Given the description of an element on the screen output the (x, y) to click on. 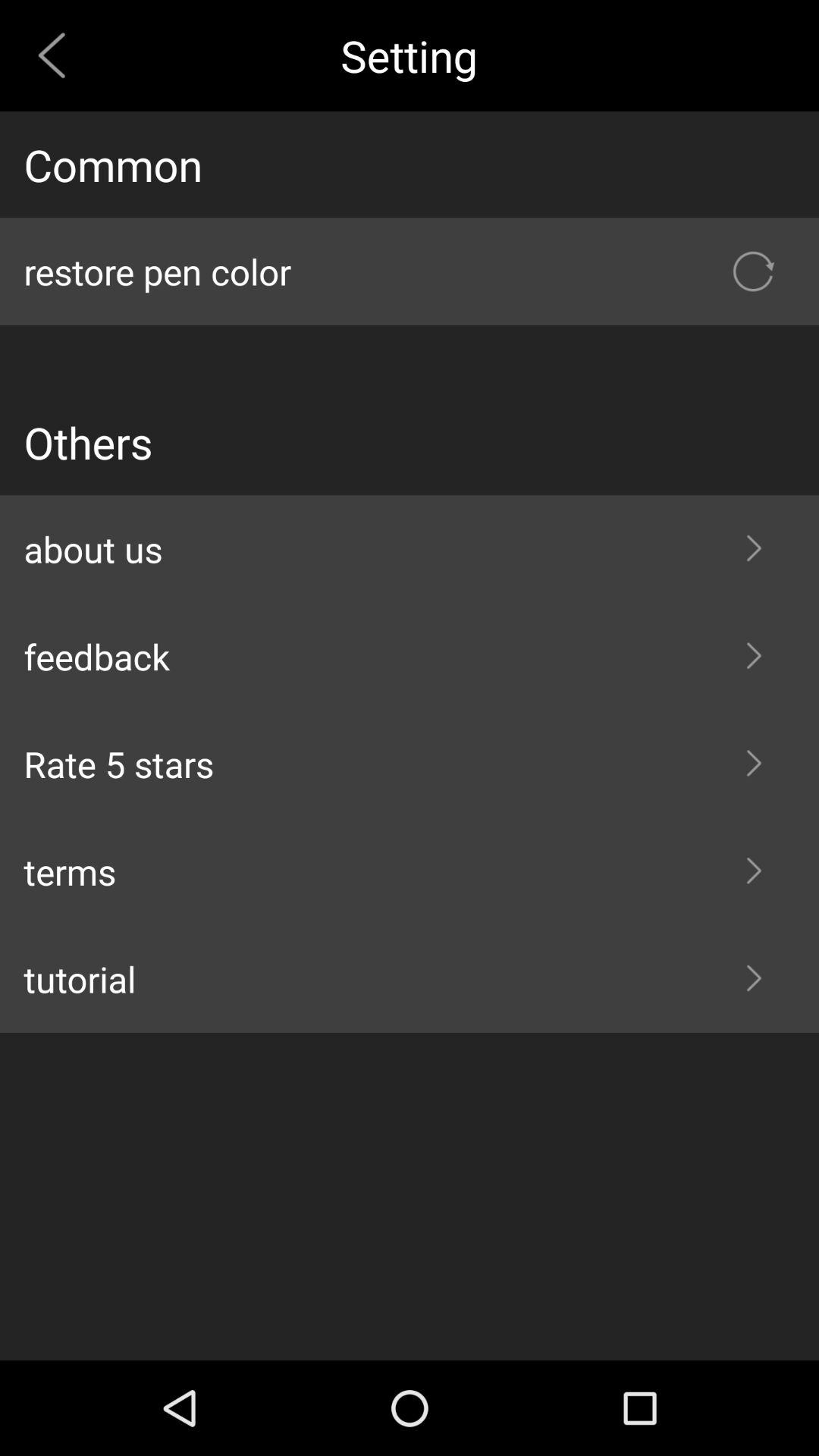
go back (57, 55)
